Given the description of an element on the screen output the (x, y) to click on. 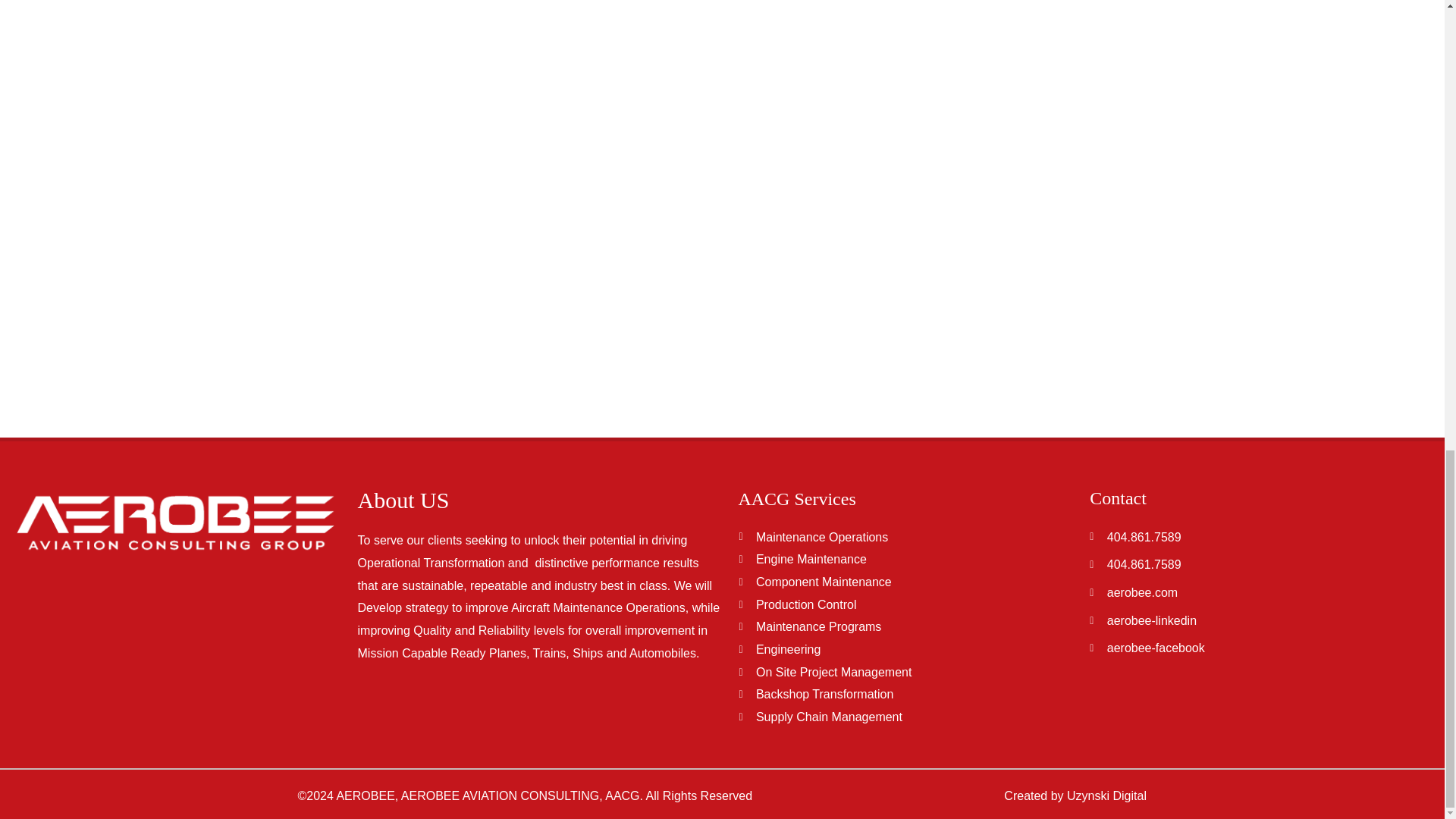
aerobee-linkedin (1262, 620)
Engine Maintenance (905, 558)
Backshop Transformation (905, 694)
aerobee-facebook (1262, 648)
Production Control (905, 604)
Supply Chain Management (905, 716)
Maintenance Operations (905, 537)
Engineering (905, 649)
Maintenance Programs (905, 626)
On Site Project Management (905, 671)
